Given the description of an element on the screen output the (x, y) to click on. 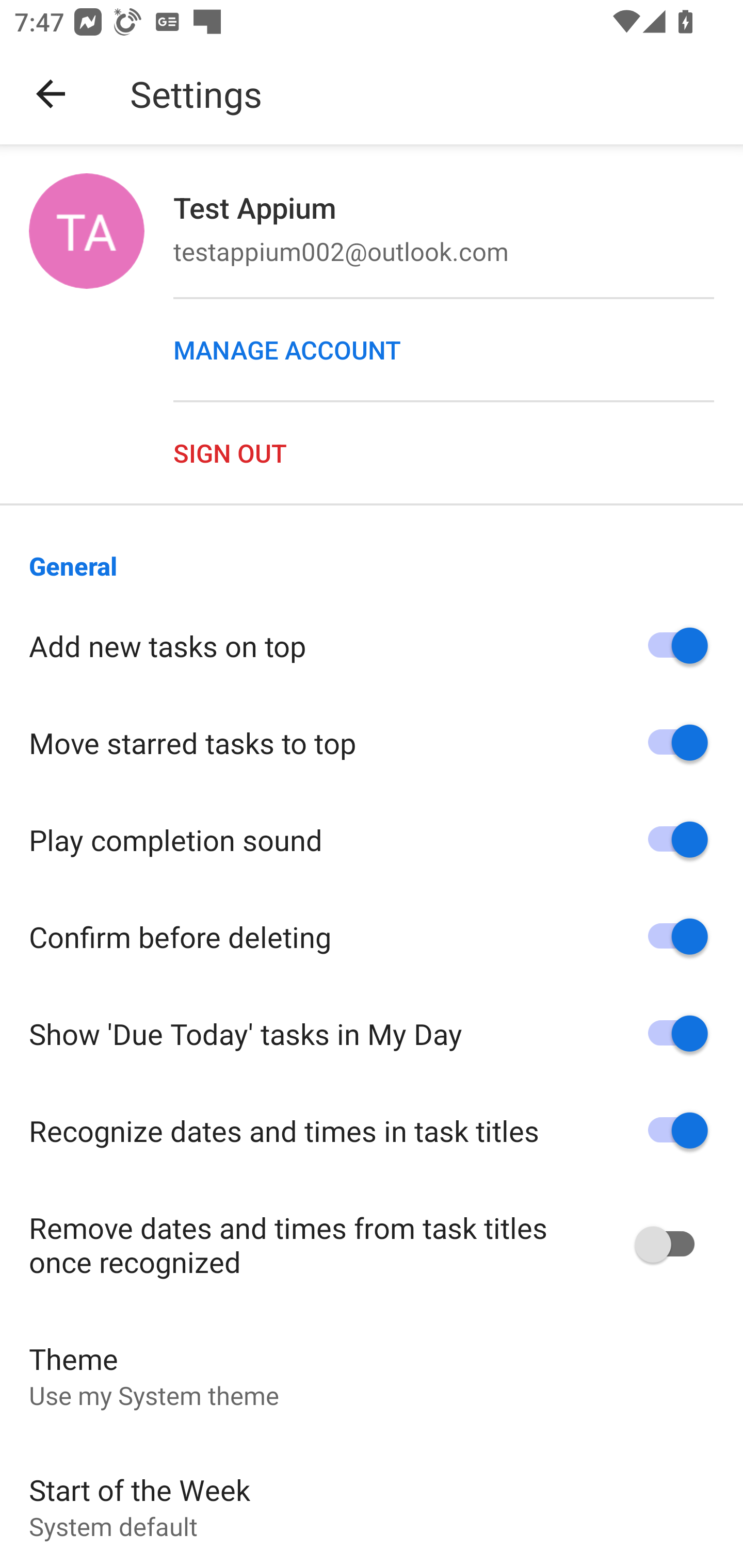
Navigate up (50, 93)
MANAGE ACCOUNT (458, 349)
SIGN OUT (458, 452)
Add new tasks on top (371, 645)
Move starred tasks to top (371, 742)
Play completion sound (371, 839)
Confirm before deleting (371, 935)
Show 'Due Today' tasks in My Day (371, 1032)
Recognize dates and times in task titles (371, 1130)
Theme Use my System theme (371, 1375)
Start of the Week System default (371, 1504)
